Given the description of an element on the screen output the (x, y) to click on. 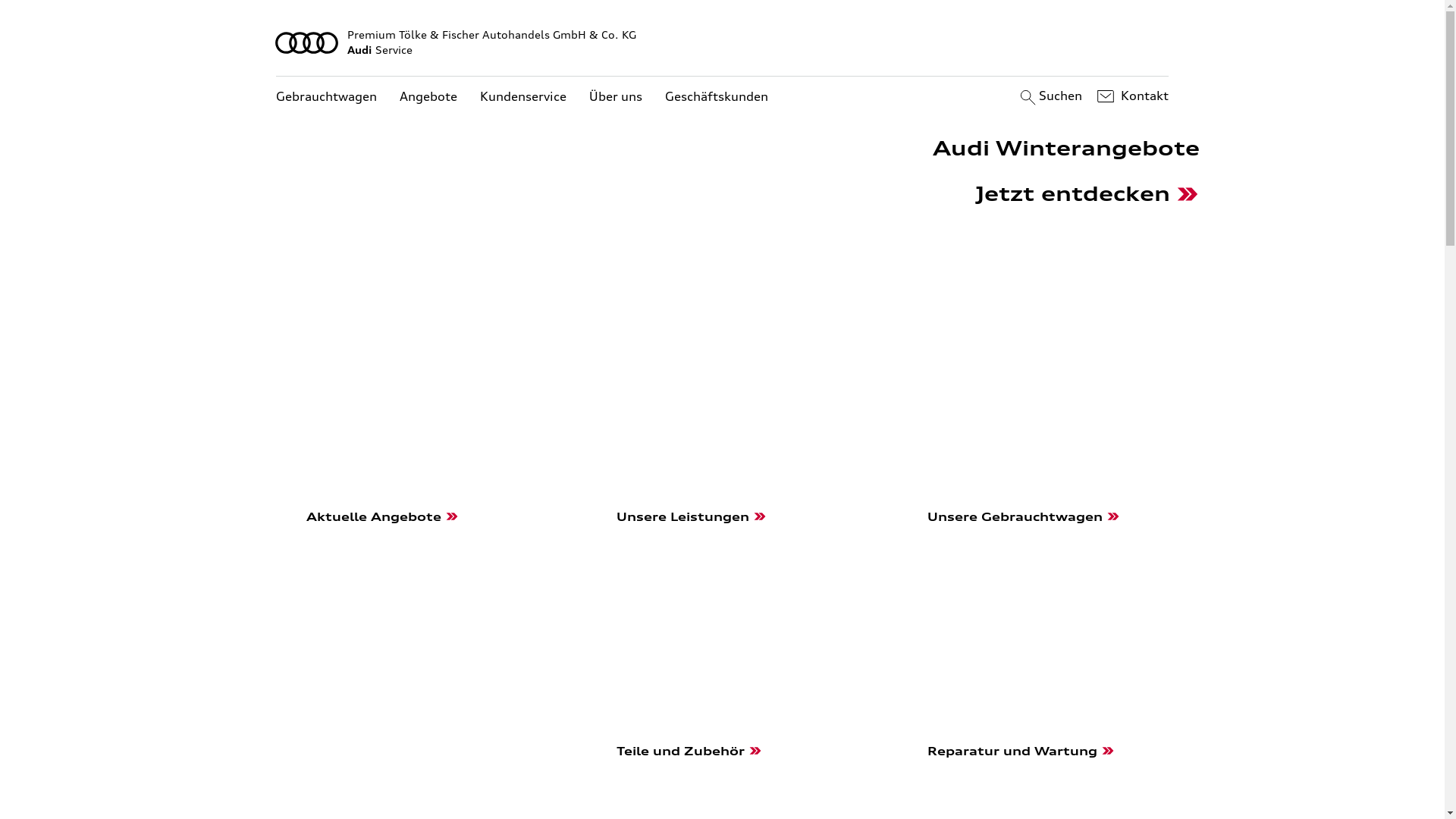
Kontakt Element type: text (1130, 96)
Unsere Gebrauchtwagen Element type: text (1032, 584)
Angebote Element type: text (428, 96)
Suchen Element type: text (1049, 96)
Kundenservice Element type: text (523, 96)
Jetzt entdecken Element type: text (1087, 196)
Gebrauchtwagen Element type: text (326, 96)
Unsere Leistungen Element type: text (721, 584)
